Given the description of an element on the screen output the (x, y) to click on. 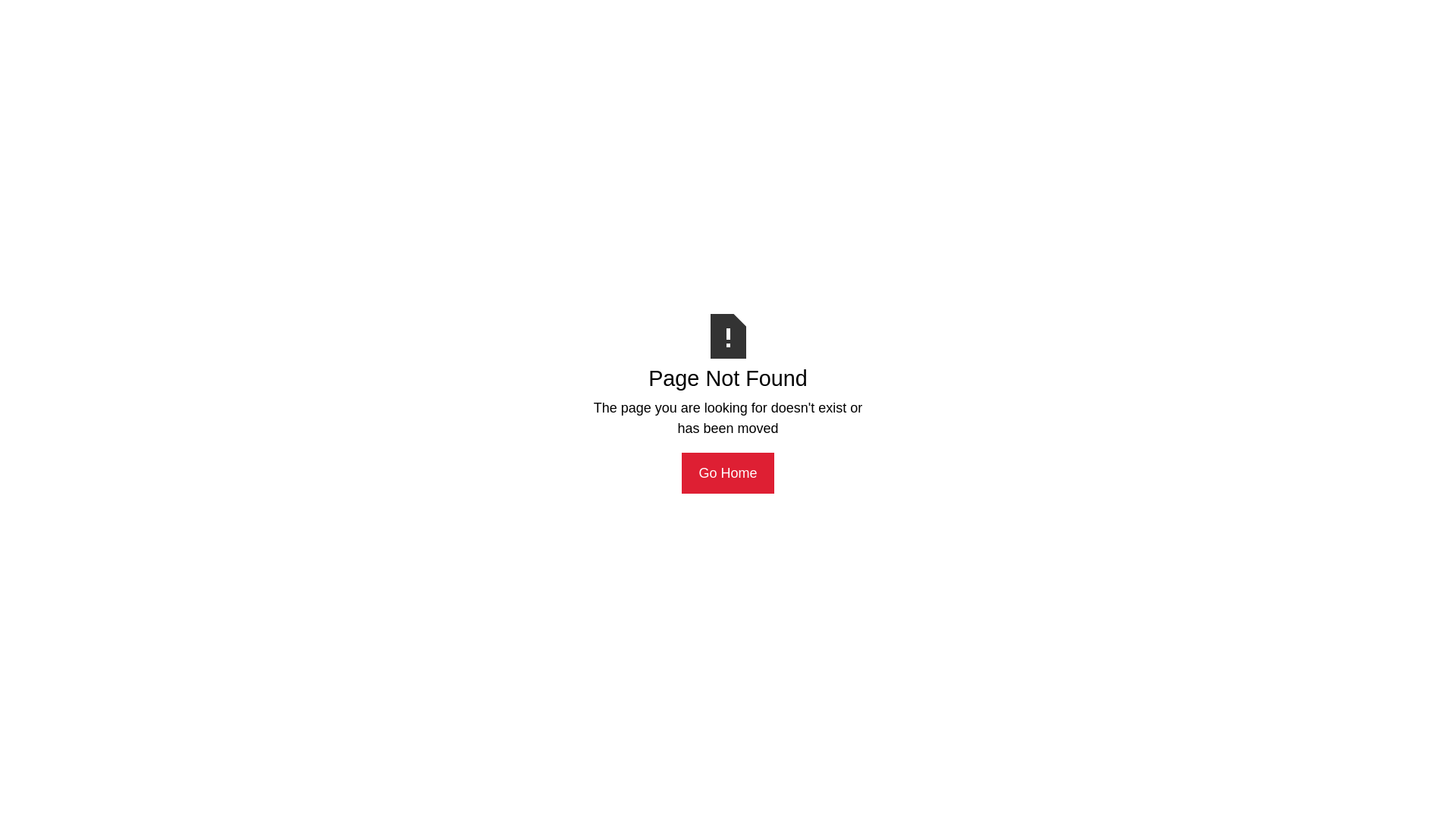
Go Home Element type: text (727, 472)
